Given the description of an element on the screen output the (x, y) to click on. 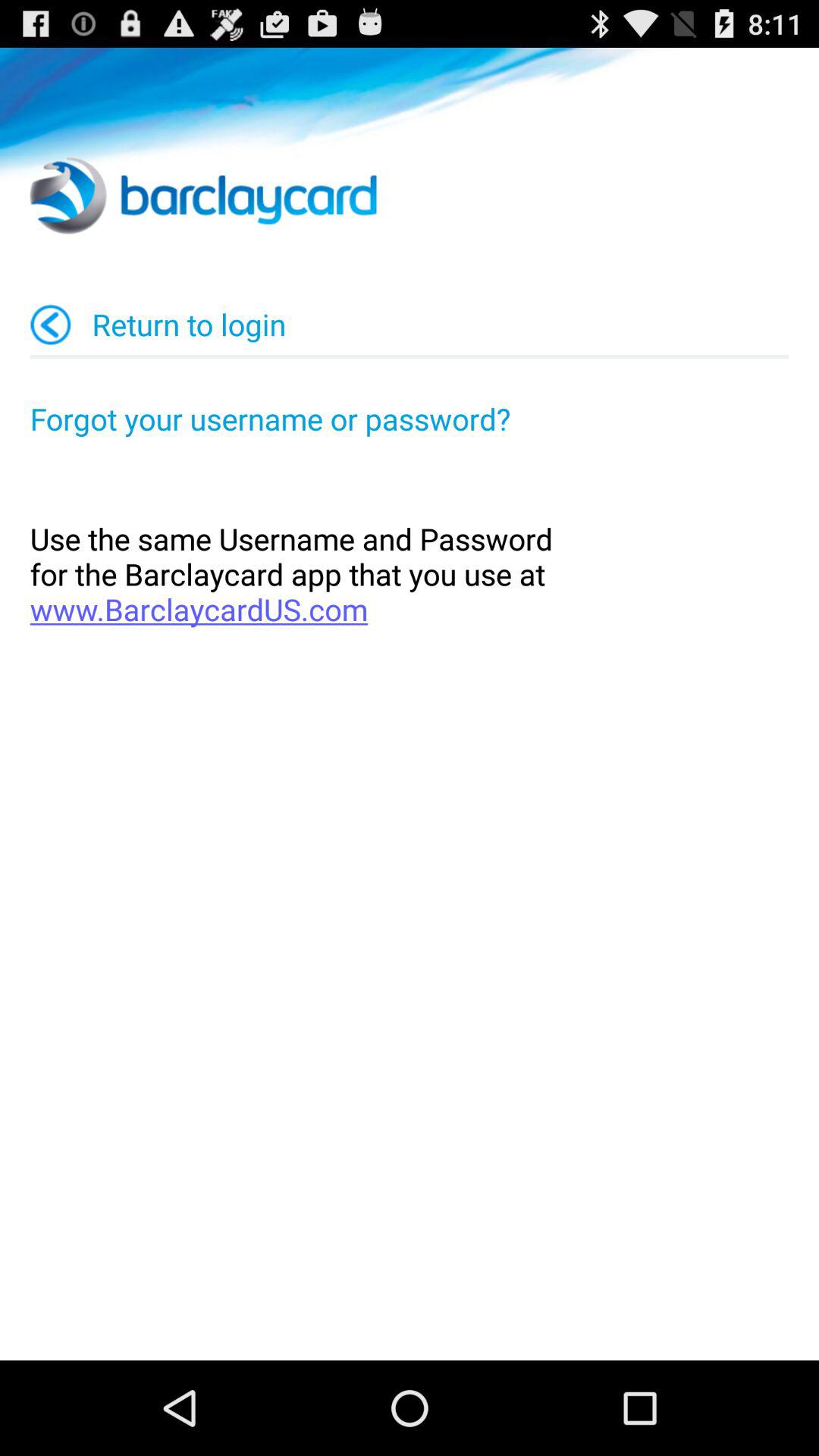
open app to the left of the return to login item (51, 324)
